Given the description of an element on the screen output the (x, y) to click on. 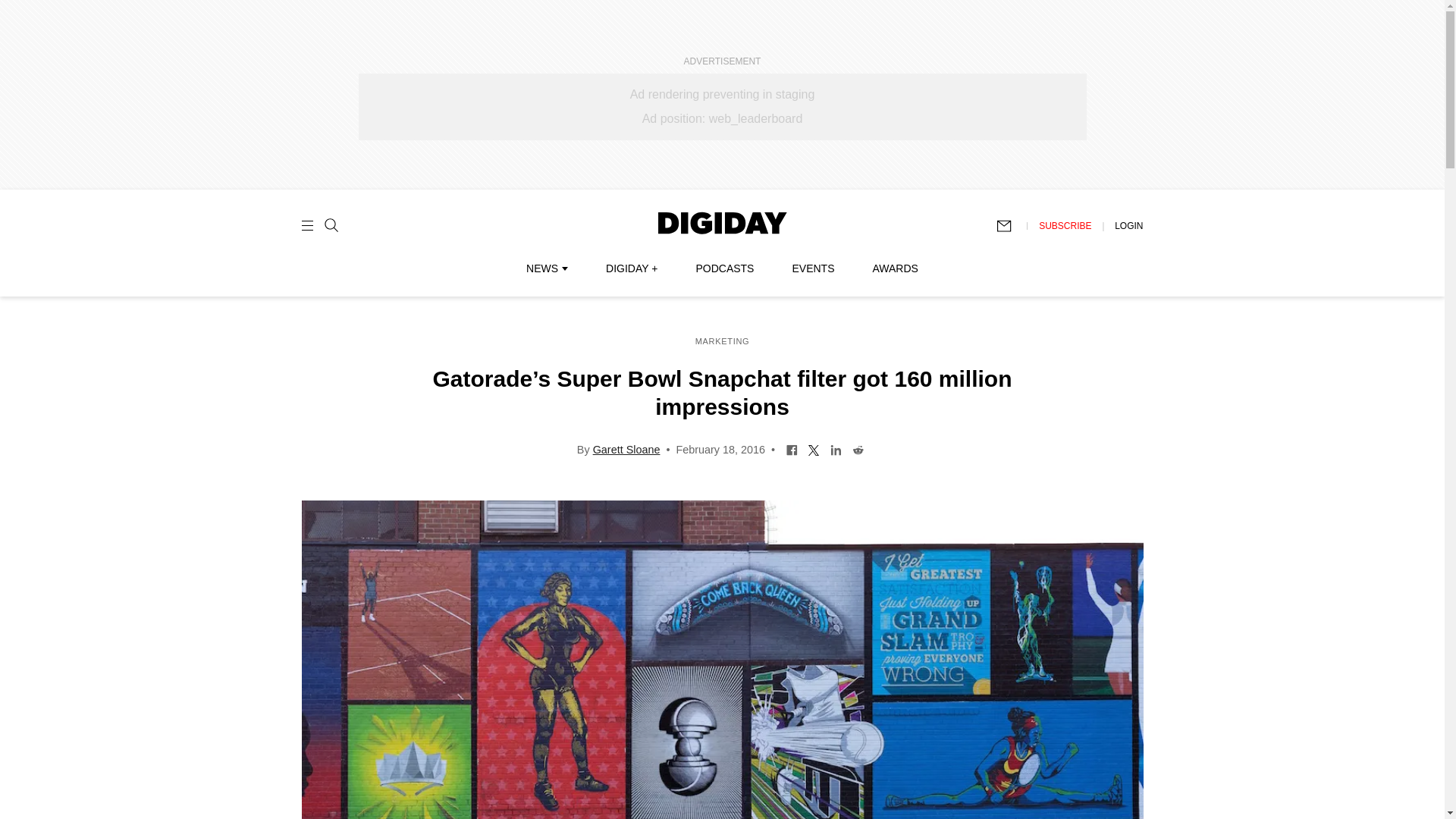
Share on Reddit (857, 449)
PODCASTS (725, 267)
Share on Facebook (791, 449)
AWARDS (894, 267)
Share on Twitter (814, 449)
SUBSCRIBE (1064, 225)
LOGIN (1128, 225)
EVENTS (813, 267)
Subscribe (1010, 225)
NEWS (546, 267)
Share on LinkedIn (836, 449)
